Given the description of an element on the screen output the (x, y) to click on. 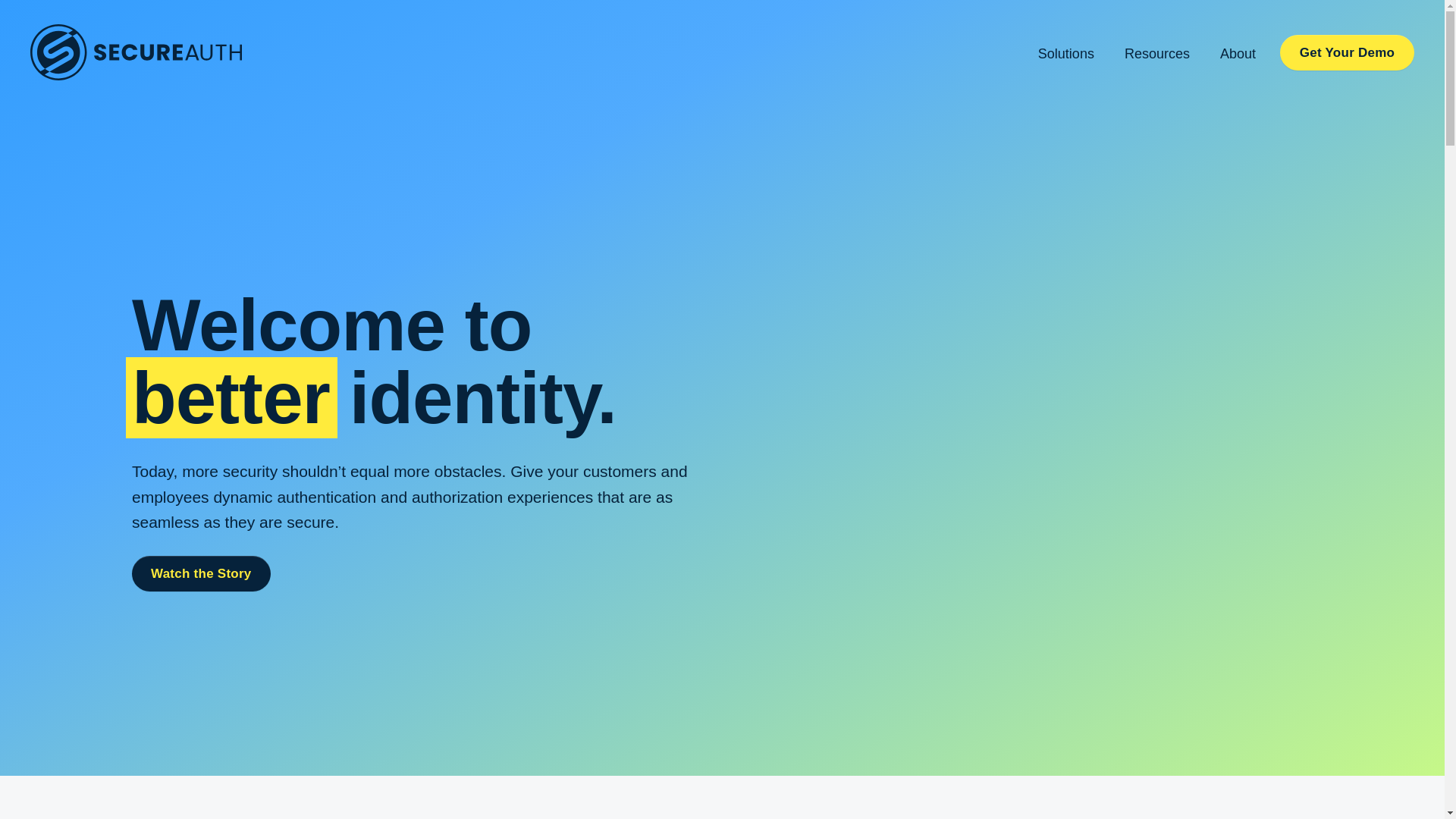
Resources (1156, 52)
About (1237, 52)
Solutions (1066, 52)
Solutions (1066, 52)
